Given the description of an element on the screen output the (x, y) to click on. 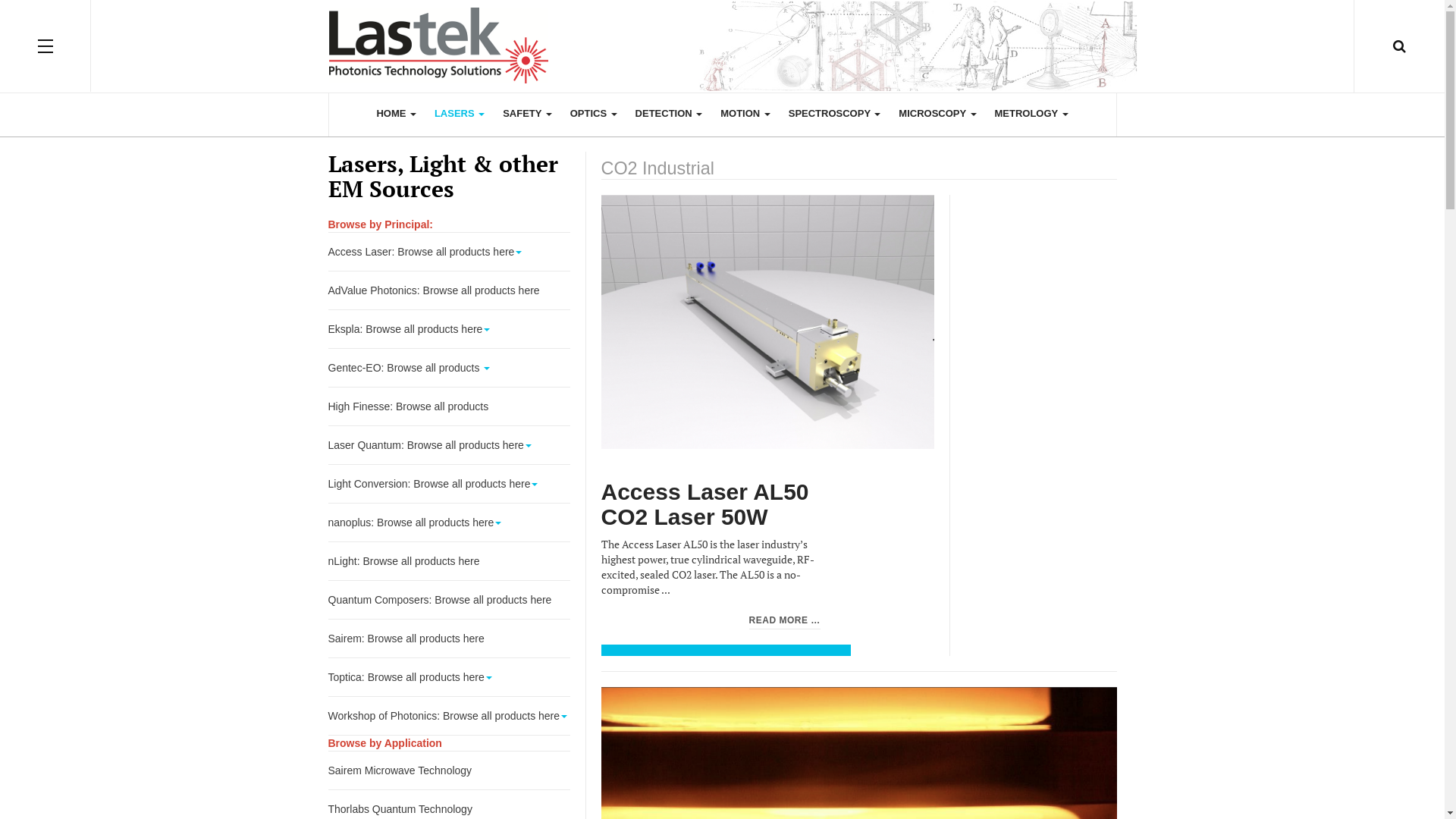
SAFETY Element type: text (527, 113)
OFF CANVAS Element type: text (45, 45)
METROLOGY Element type: text (1030, 113)
Gentec-EO: Browse all products Element type: text (448, 367)
AdValue Photonics: Browse all products here Element type: text (448, 290)
nanoplus: Browse all products here Element type: text (448, 522)
MICROSCOPY Element type: text (936, 113)
Access Laser AL50 CO2 Laser 50W Element type: text (704, 504)
SPECTROSCOPY Element type: text (834, 113)
Light Conversion: Browse all products here Element type: text (448, 483)
DETECTION Element type: text (668, 113)
OPTICS Element type: text (593, 113)
Workshop of Photonics: Browse all products here Element type: text (448, 715)
LASERS Element type: text (459, 113)
Lastek Element type: hover (721, 45)
Access Laser: Browse all products here Element type: text (448, 251)
Quantum Composers: Browse all products here Element type: text (448, 599)
Sairem Microwave Technology Element type: text (448, 770)
Laser Quantum: Browse all products here Element type: text (448, 445)
Ekspla: Browse all products here Element type: text (448, 329)
MOTION Element type: text (745, 113)
HOME Element type: text (396, 113)
Toptica: Browse all products here Element type: text (448, 677)
Sairem: Browse all products here Element type: text (448, 638)
High Finesse: Browse all products Element type: text (448, 406)
nLight: Browse all products here Element type: text (448, 561)
